Given the description of an element on the screen output the (x, y) to click on. 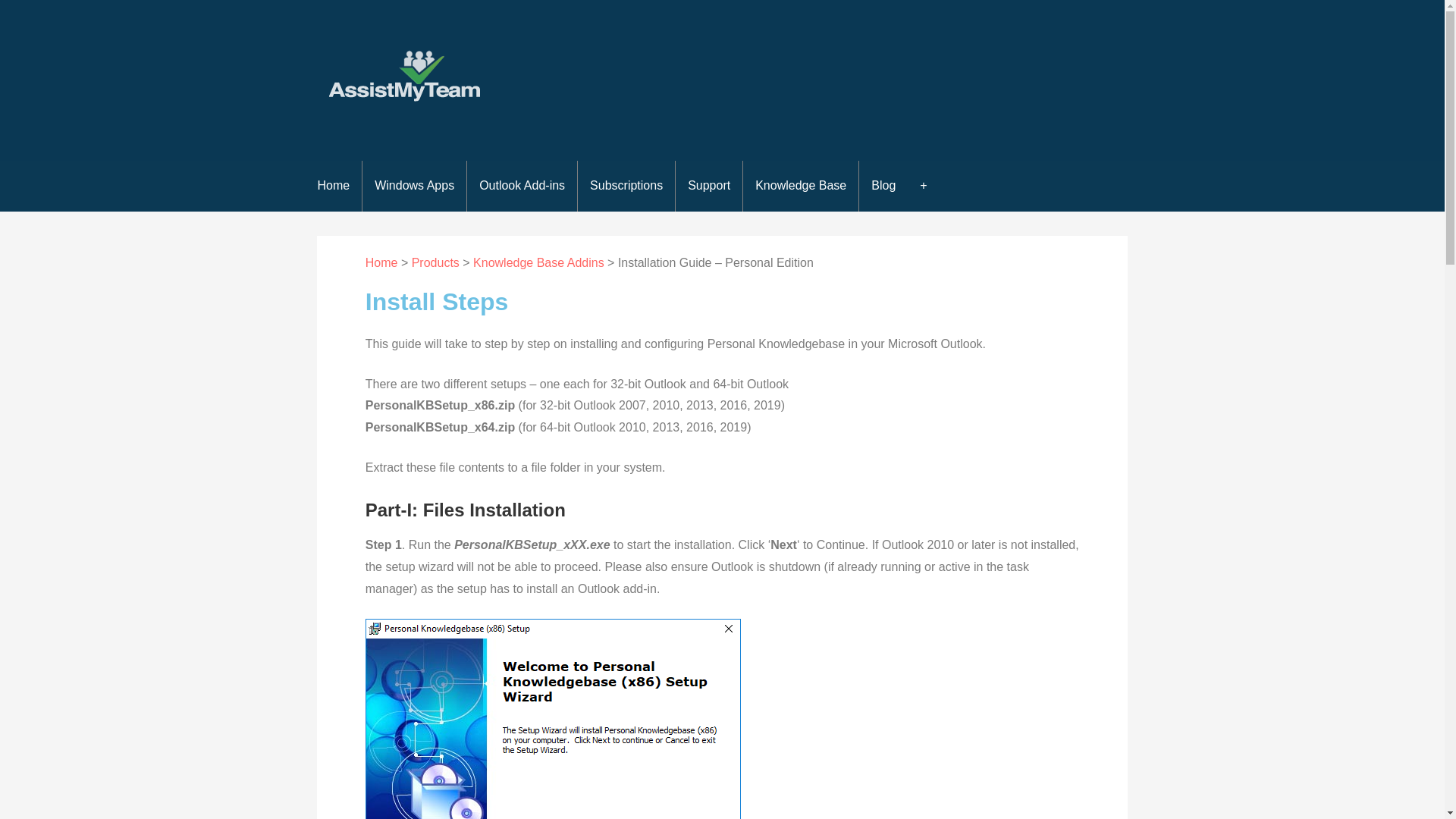
AssistMyTeam (408, 129)
Windows Apps (414, 185)
Home (333, 185)
